Given the description of an element on the screen output the (x, y) to click on. 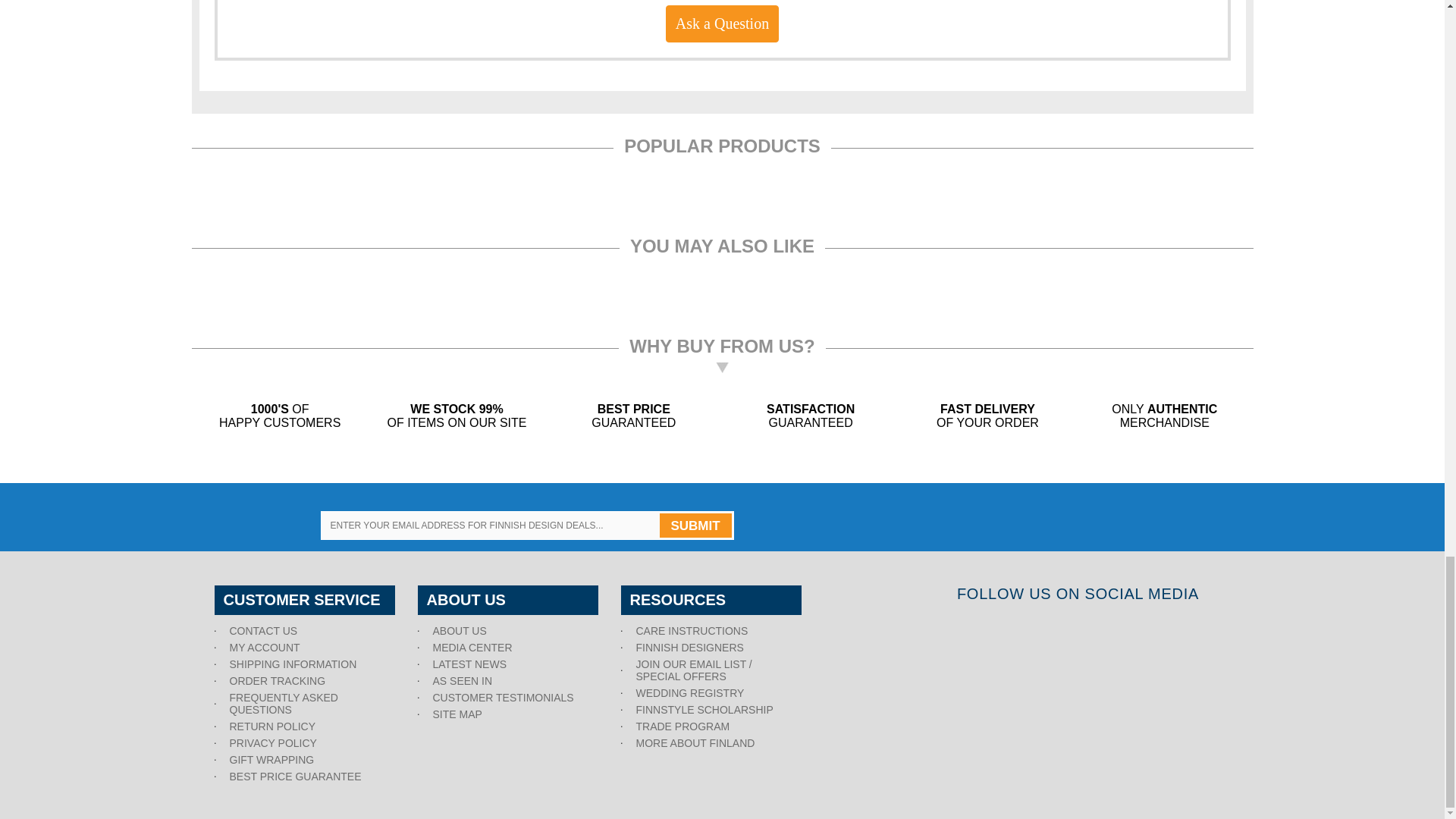
SUBMIT (695, 525)
